Given the description of an element on the screen output the (x, y) to click on. 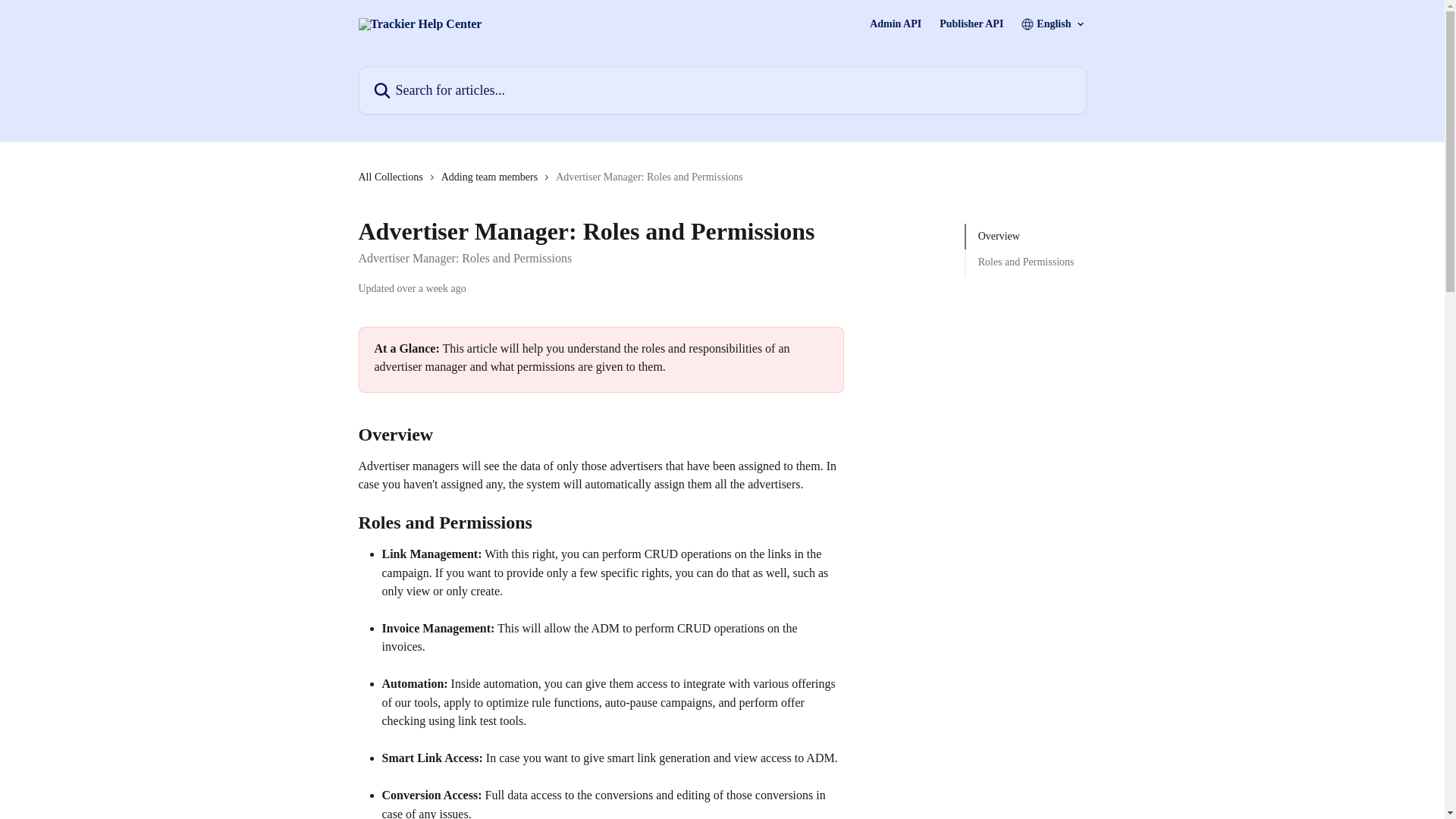
Adding team members (492, 176)
Roles and Permissions (1026, 262)
Overview (1026, 236)
All Collections (393, 176)
Admin API (895, 23)
Publisher API (971, 23)
